Given the description of an element on the screen output the (x, y) to click on. 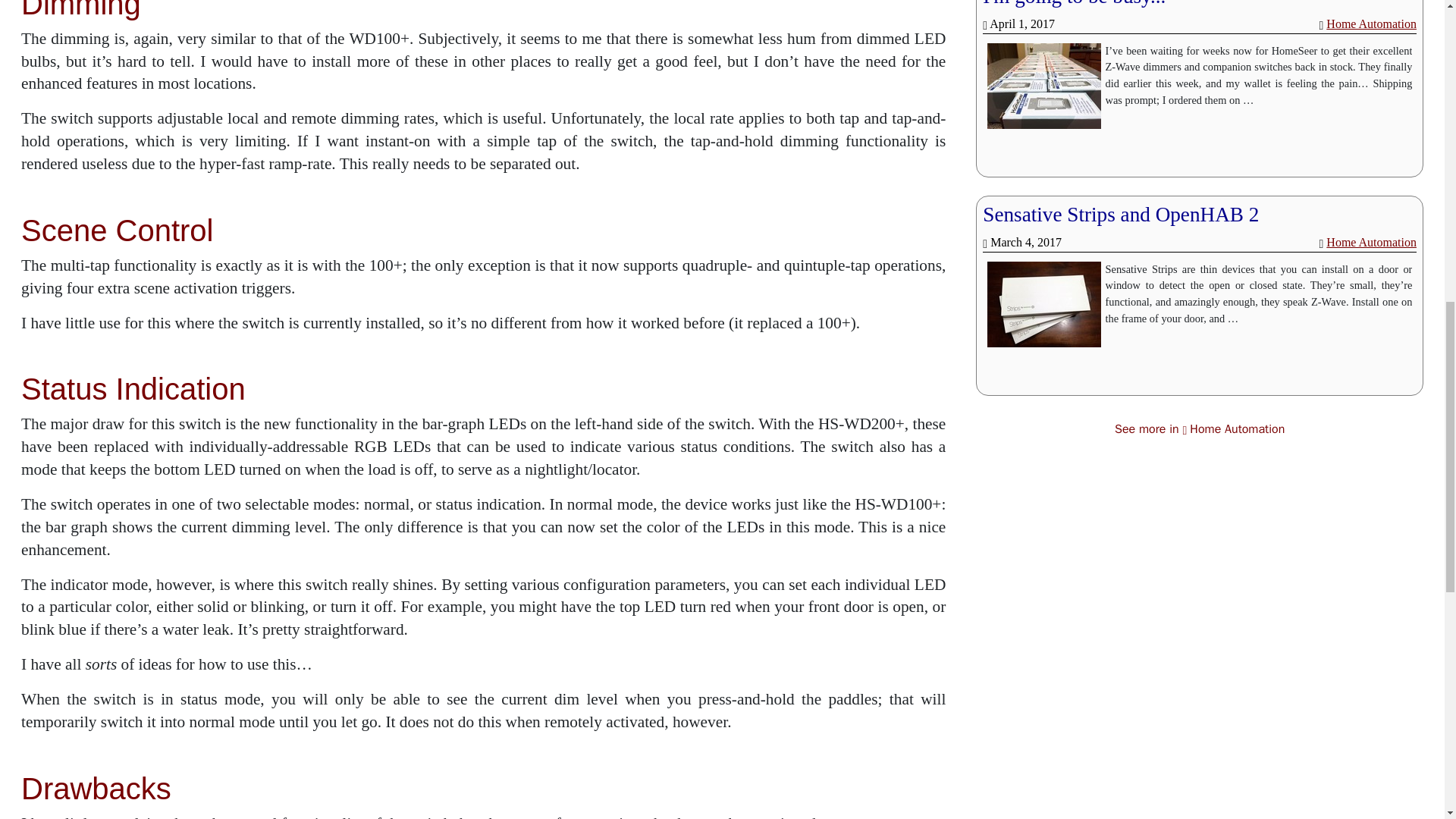
Sensative Strips and OpenHAB 2 (1120, 214)
Home Automation (1371, 241)
Home Automation (1371, 23)
I'm going to be busy... (1074, 3)
